Given the description of an element on the screen output the (x, y) to click on. 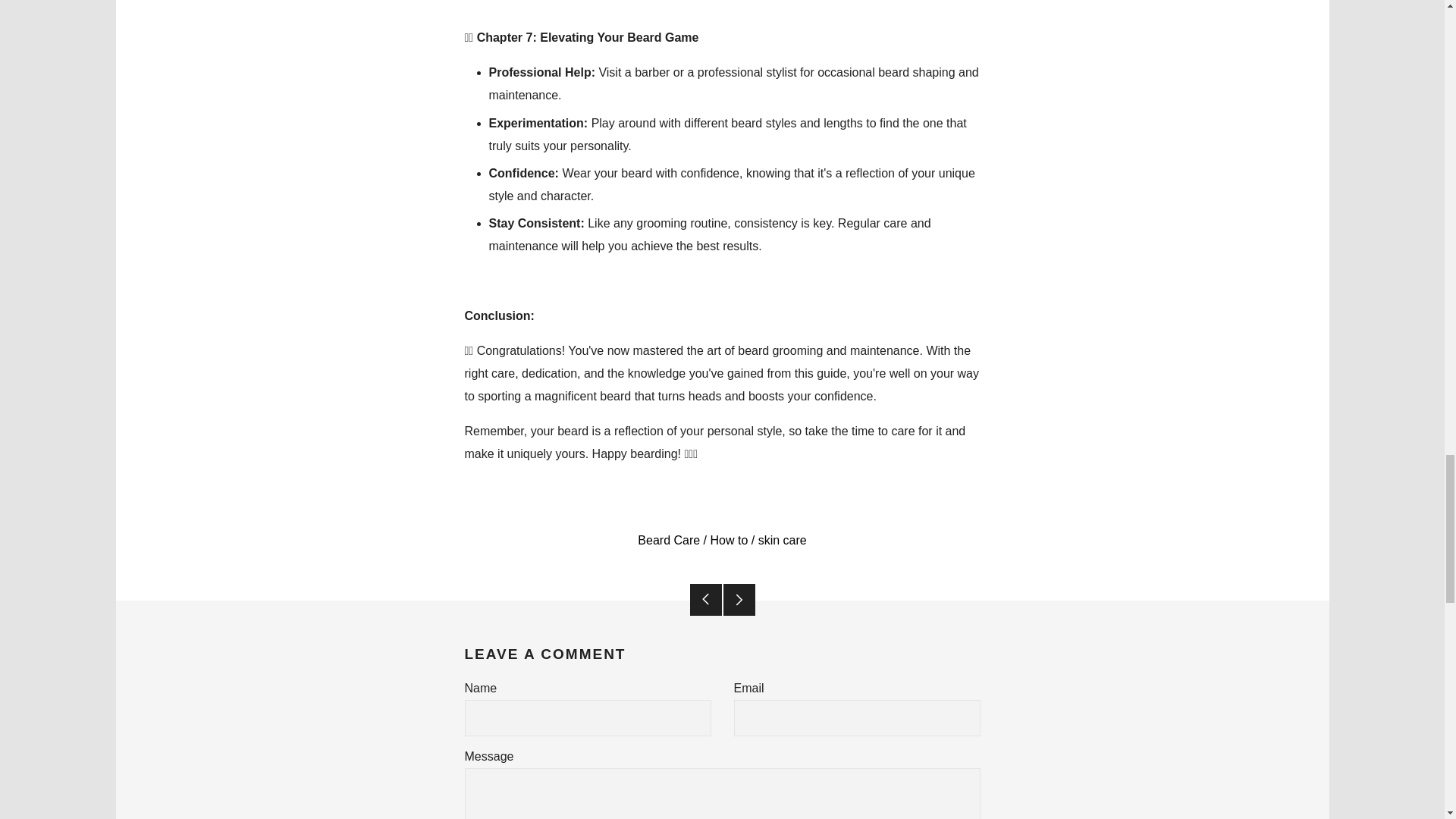
Show articles tagged skin care (782, 540)
Show articles tagged Beard Care (668, 540)
Show articles tagged How to (729, 540)
